Given the description of an element on the screen output the (x, y) to click on. 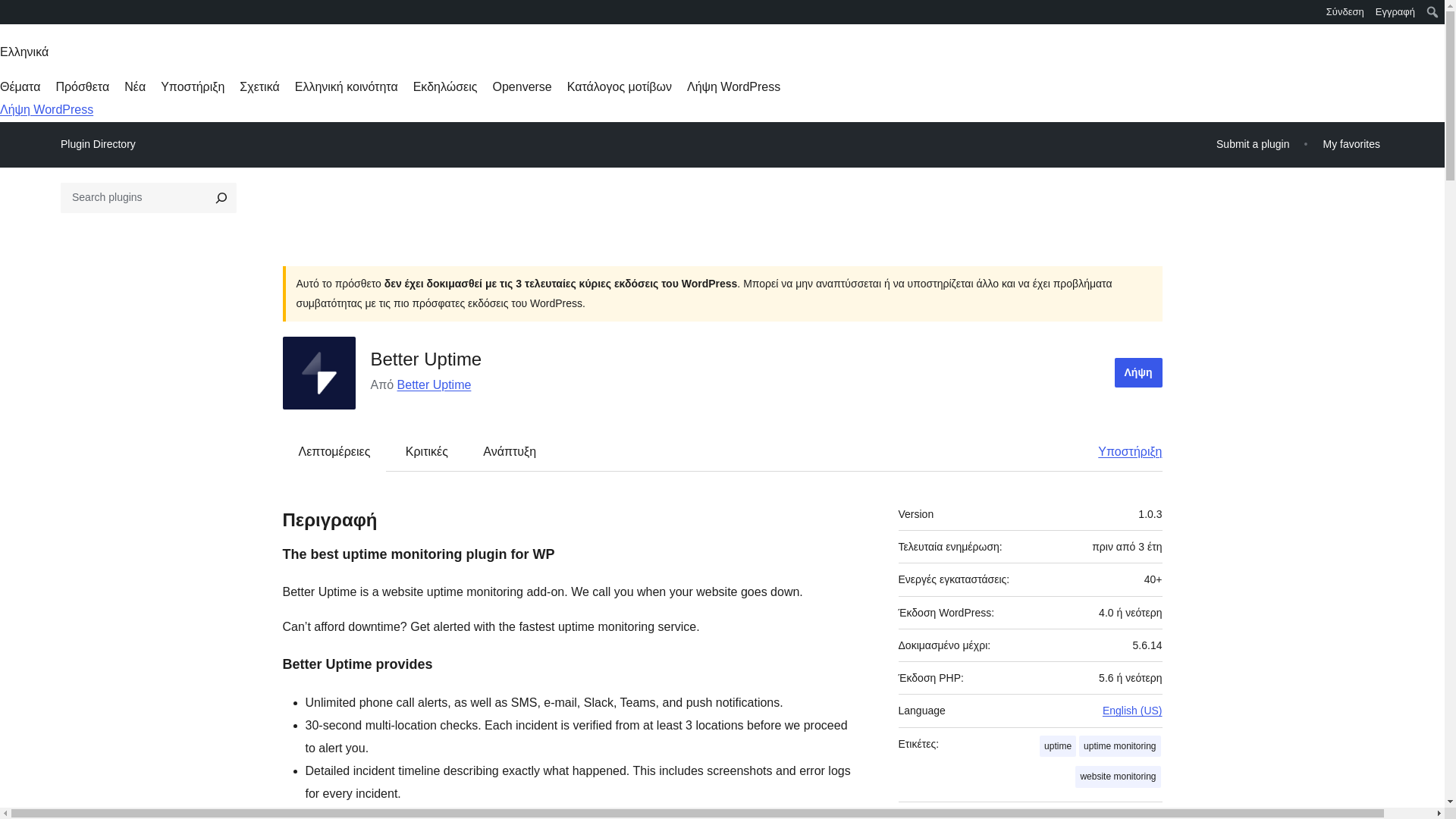
Better Uptime (434, 384)
Plugin Directory (97, 143)
My favorites (1351, 144)
Openverse (521, 87)
Submit a plugin (1253, 144)
WordPress.org (10, 16)
WordPress.org (10, 10)
